Given the description of an element on the screen output the (x, y) to click on. 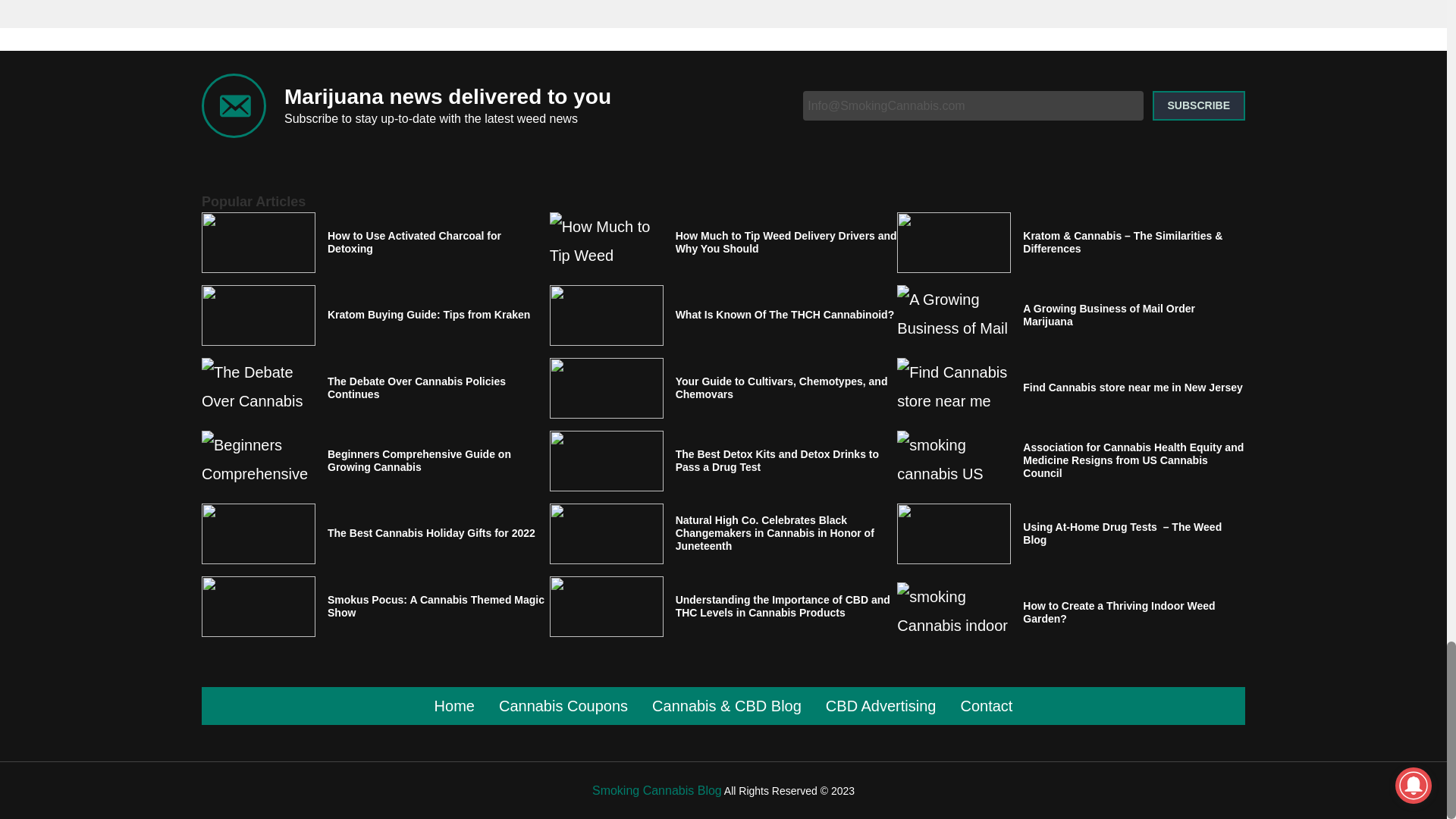
subscribe (1198, 105)
subscribe (1198, 105)
